Given the description of an element on the screen output the (x, y) to click on. 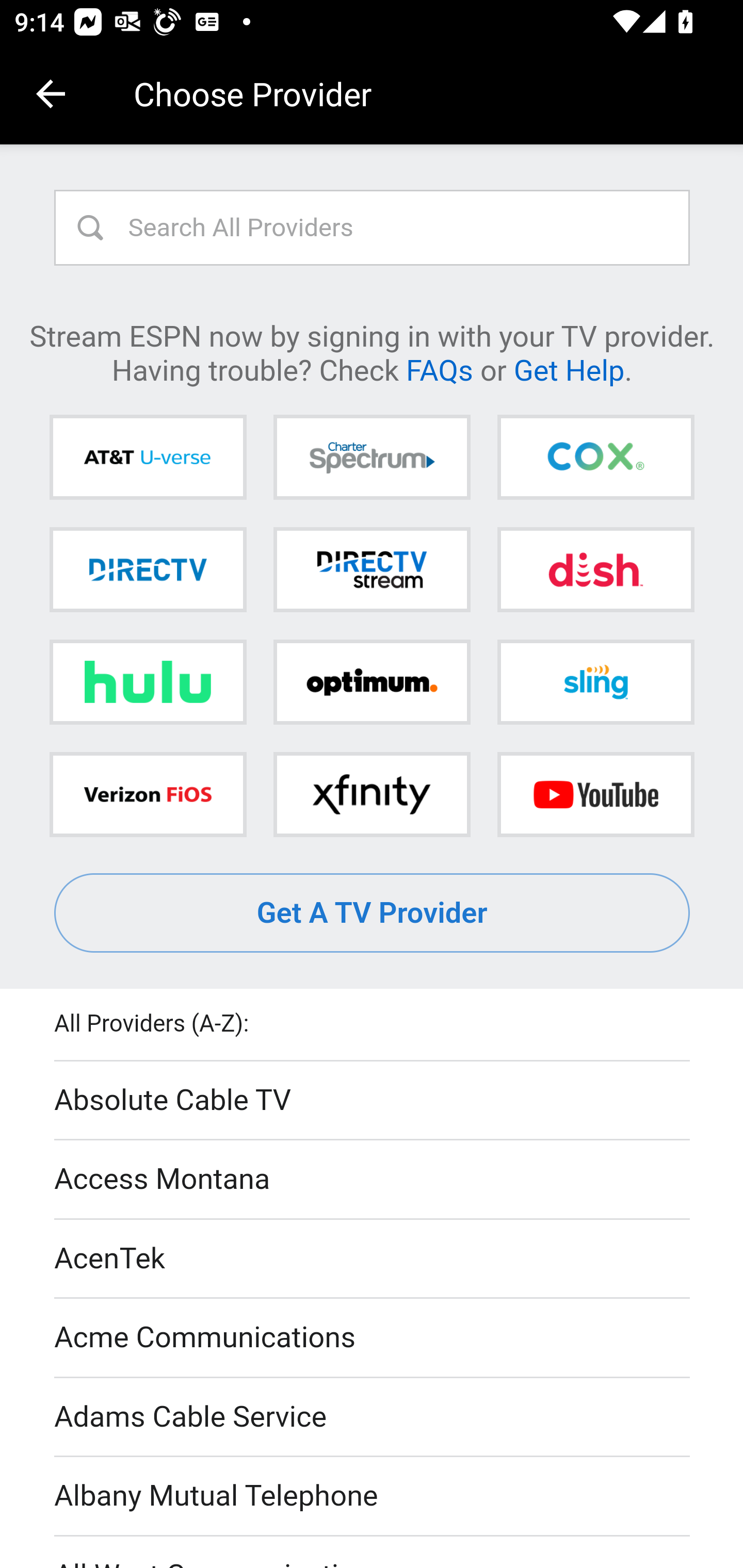
Navigate up (50, 93)
FAQs (438, 369)
Get Help (569, 369)
AT&T U-verse (147, 457)
Charter Spectrum (371, 457)
Cox (595, 457)
DIRECTV (147, 568)
DIRECTV STREAM (371, 568)
DISH (595, 568)
Hulu (147, 681)
Optimum (371, 681)
Sling TV (595, 681)
Verizon FiOS (147, 793)
Xfinity (371, 793)
YouTube TV (595, 793)
Get A TV Provider (372, 912)
Absolute Cable TV (372, 1100)
Access Montana (372, 1178)
AcenTek (372, 1258)
Acme Communications (372, 1338)
Adams Cable Service (372, 1417)
Albany Mutual Telephone (372, 1497)
